Given the description of an element on the screen output the (x, y) to click on. 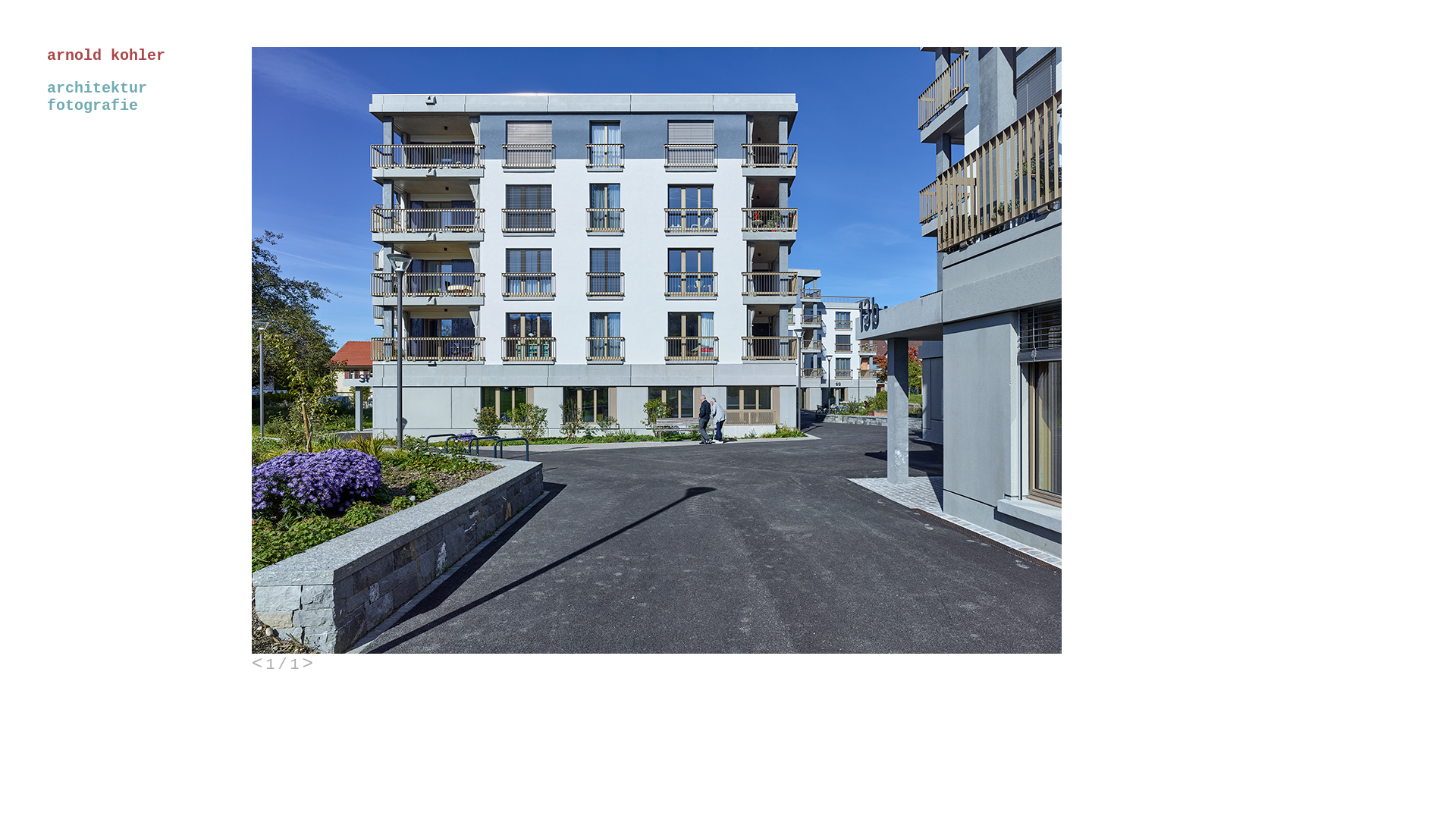
architektur
fotografie Element type: text (97, 96)
arnold kohler Element type: text (86, 55)
  Element type: text (6, 128)
